Given the description of an element on the screen output the (x, y) to click on. 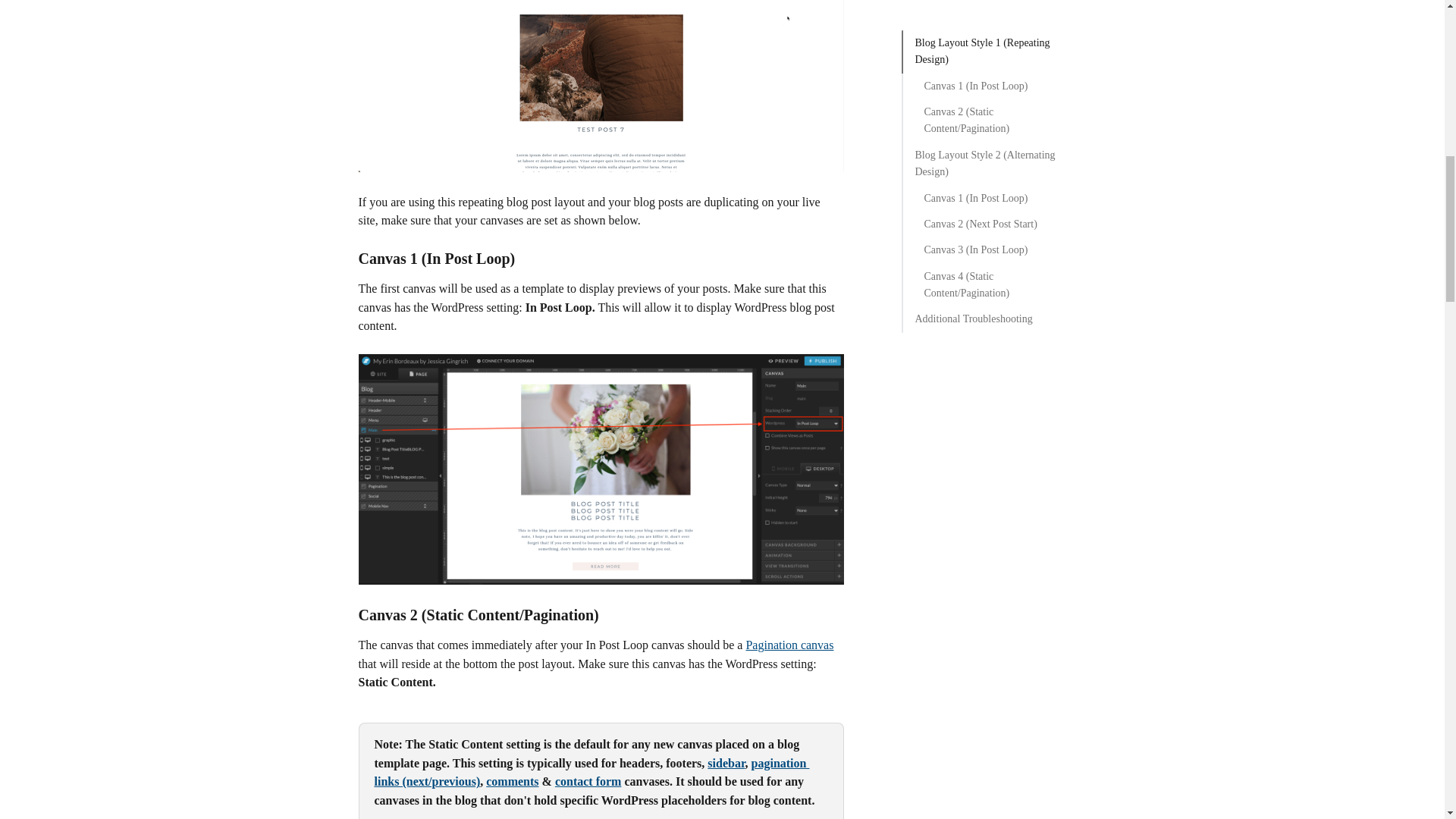
comments (512, 780)
sidebar (725, 762)
Pagination canvas (788, 644)
contact form (587, 780)
